Given the description of an element on the screen output the (x, y) to click on. 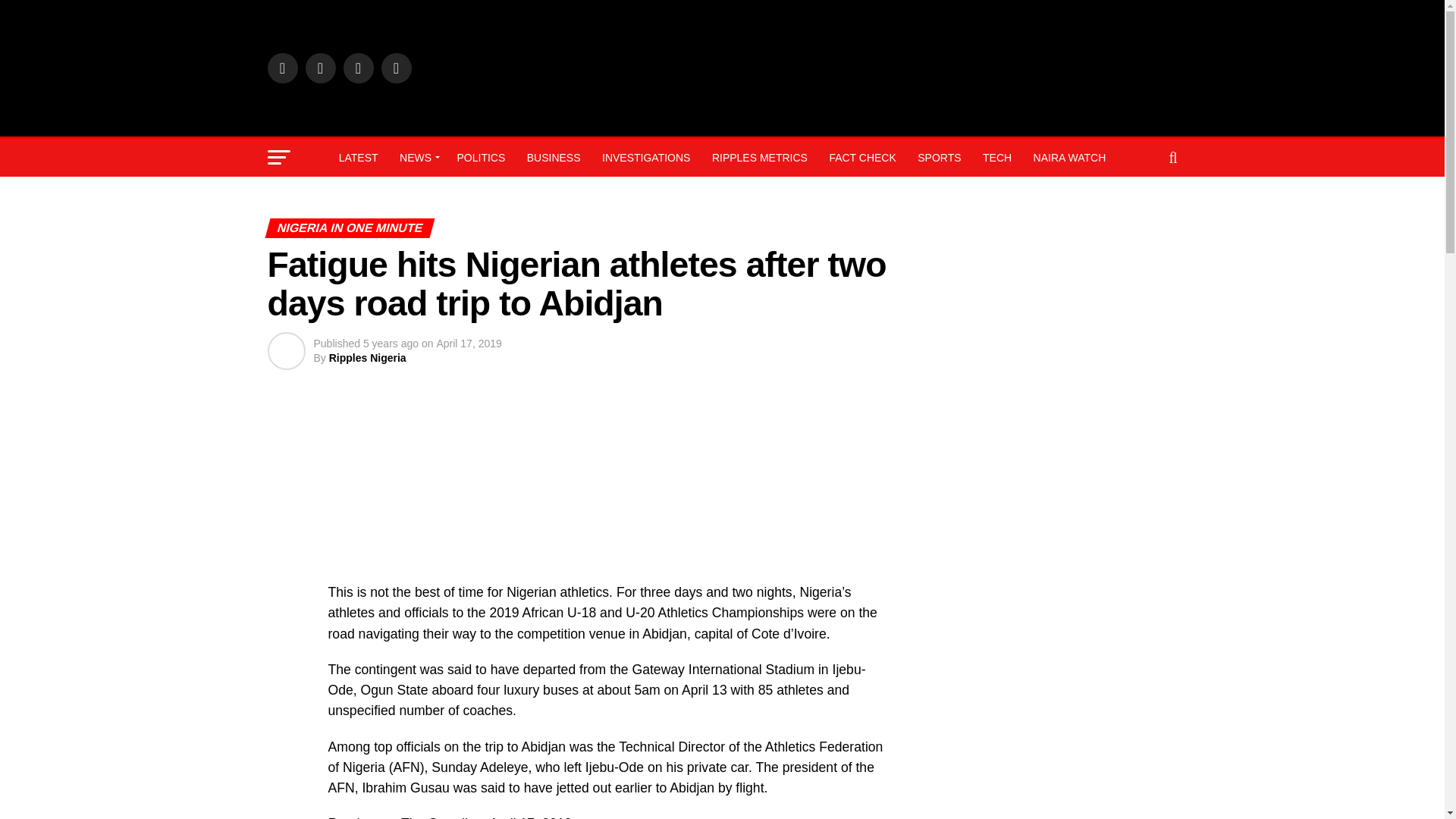
BUSINESS (553, 157)
POLITICS (479, 157)
NEWS (417, 157)
LATEST (358, 157)
Posts by Ripples Nigeria (367, 357)
